Given the description of an element on the screen output the (x, y) to click on. 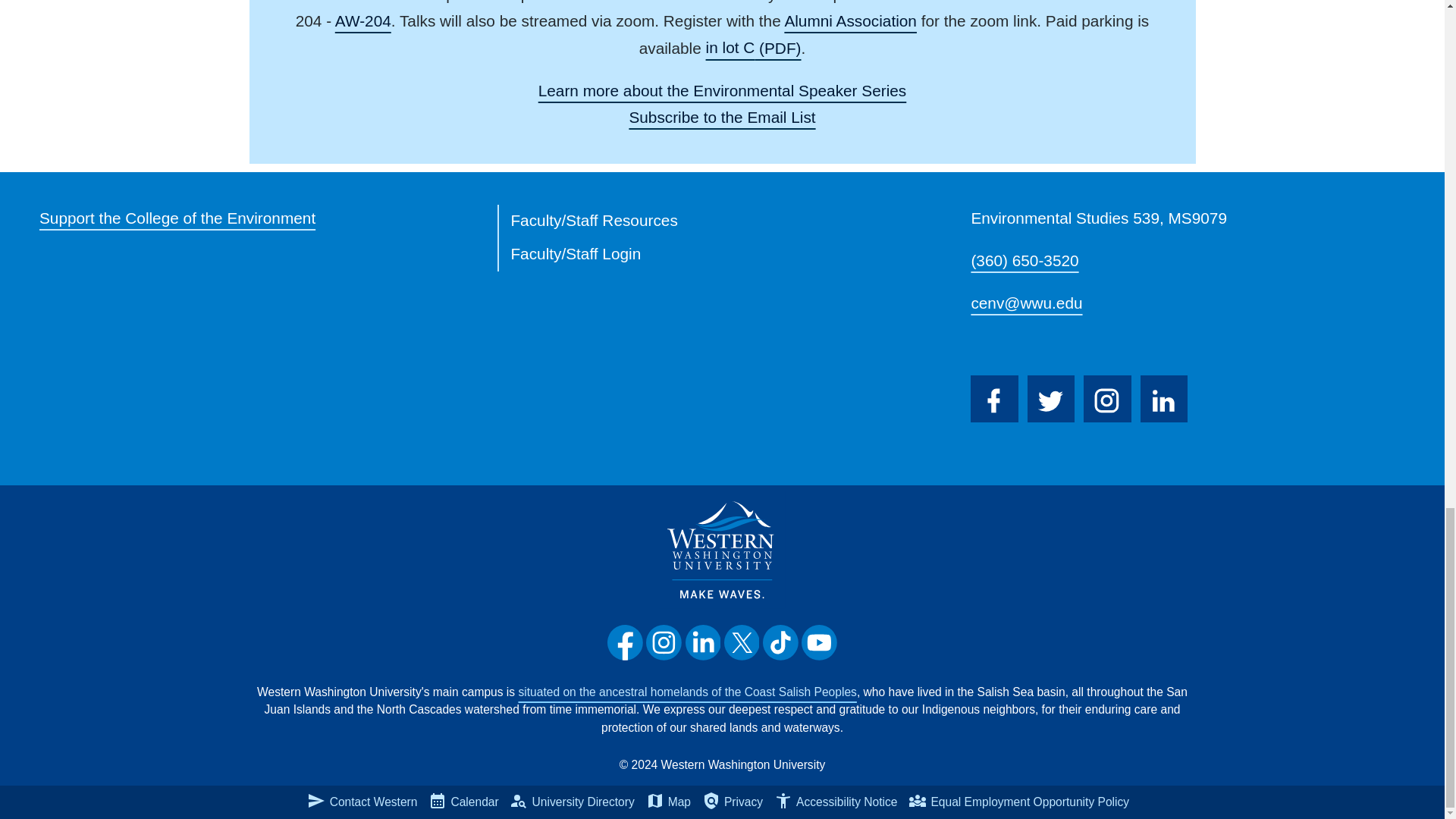
WWU campus map showing location of building AW (362, 20)
Western Logo (721, 549)
Parking map and information PDF (754, 47)
Environmental Speaker Series (722, 90)
